Given the description of an element on the screen output the (x, y) to click on. 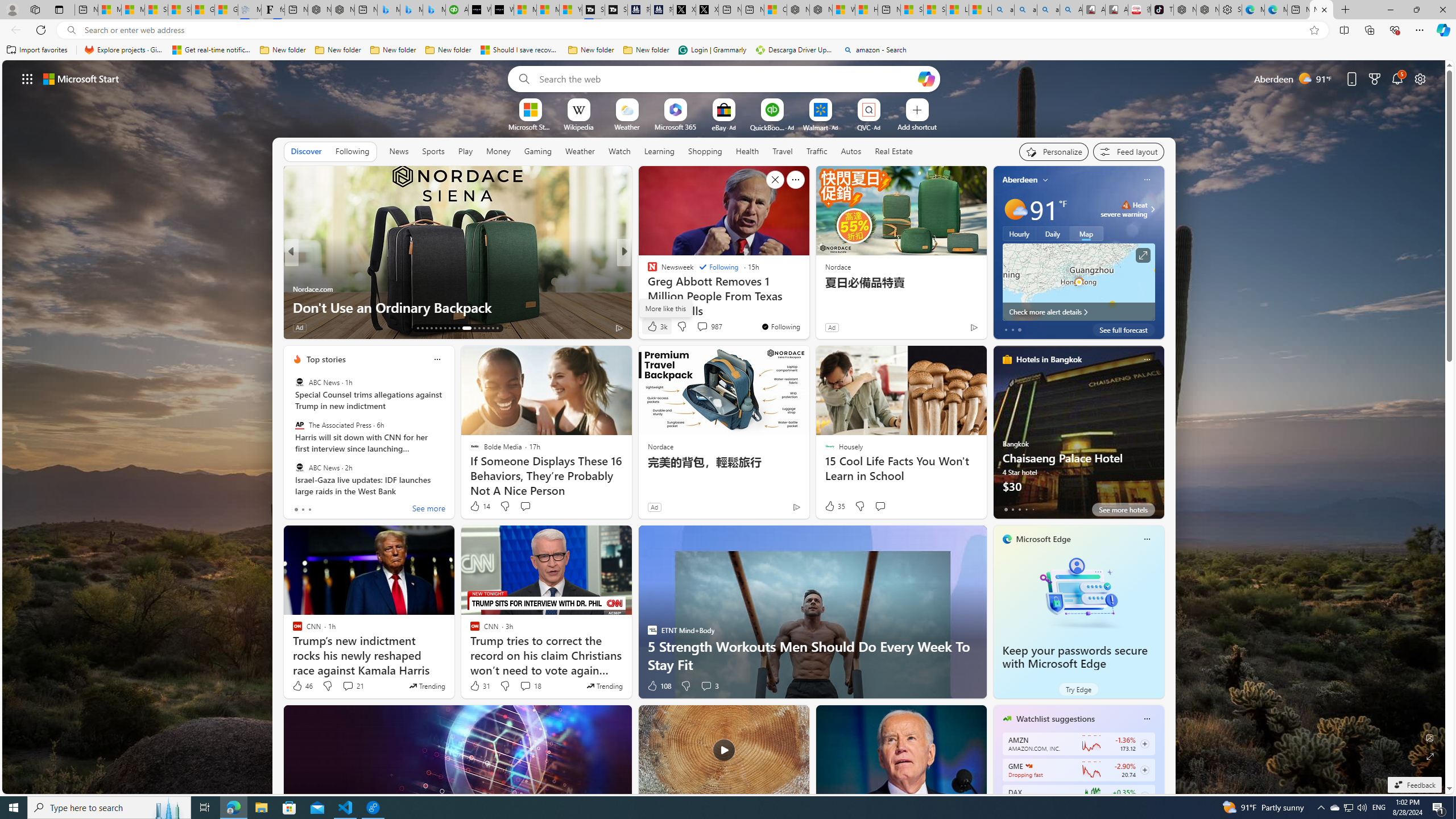
Streaming Coverage | T3 (593, 9)
AutomationID: tab-16 (431, 328)
View comments 3 Comment (709, 685)
See more (795, 179)
31 Like (479, 685)
Enter your search term (726, 78)
Import favorites (36, 49)
Start the conversation (879, 505)
Edit Background (1430, 737)
AutomationID: tab-15 (426, 328)
The Weather Channel (647, 270)
Ad (653, 506)
